Given the description of an element on the screen output the (x, y) to click on. 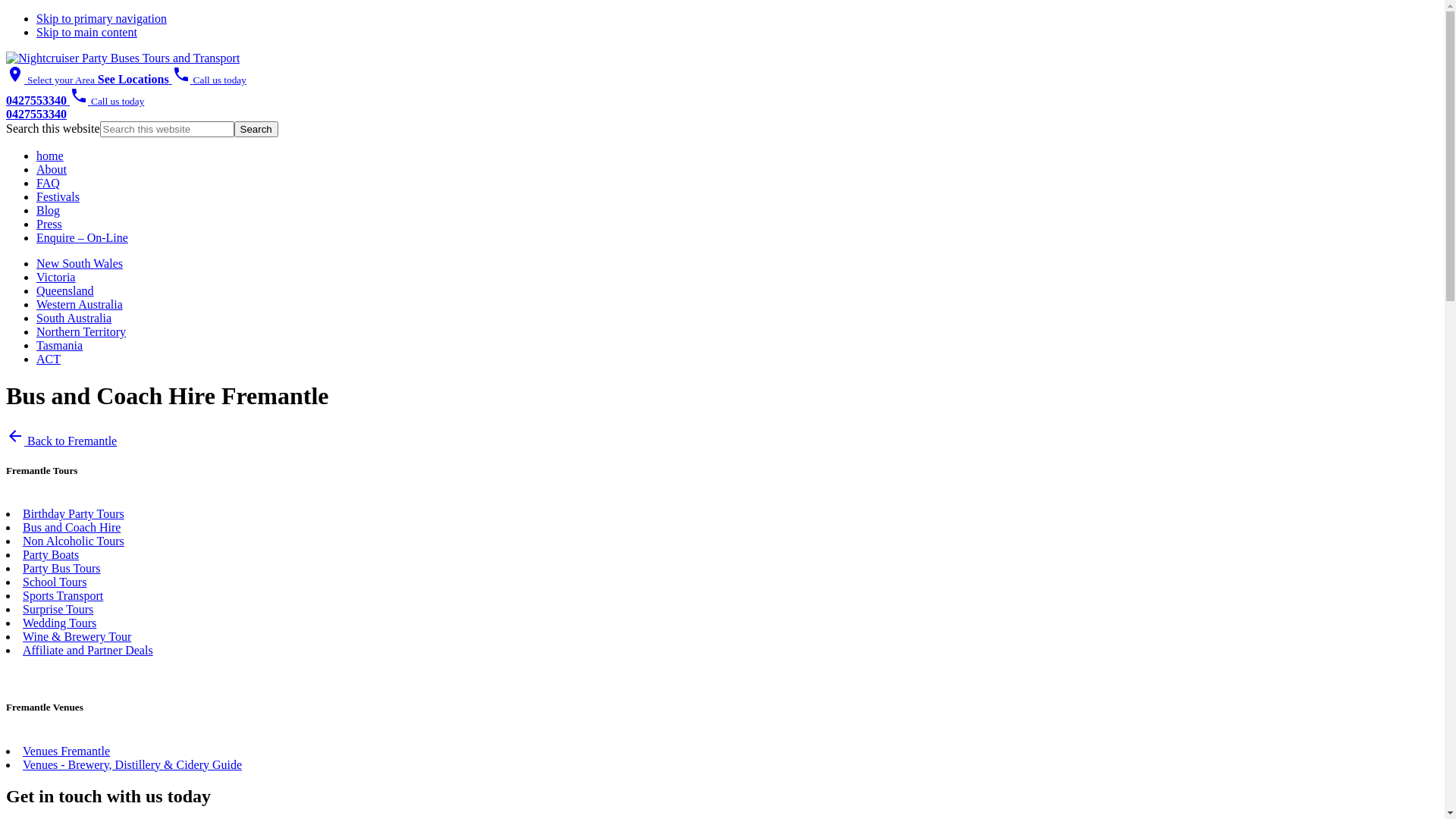
FAQ Element type: text (47, 182)
home Element type: text (49, 155)
Sports Transport Element type: text (62, 595)
Press Element type: text (49, 223)
place Select your Area See Locations Element type: text (89, 78)
Bus and Coach Hire Element type: text (71, 526)
About Element type: text (51, 169)
Tasmania Element type: text (59, 344)
Northern Territory Element type: text (80, 331)
Non Alcoholic Tours Element type: text (73, 540)
South Australia Element type: text (73, 317)
Queensland Element type: text (65, 290)
ACT Element type: text (48, 358)
Venues - Brewery, Distillery & Cidery Guide Element type: text (131, 764)
Affiliate and Partner Deals Element type: text (87, 649)
Surprise Tours Element type: text (57, 608)
phone Call us today
0427553340 Element type: text (75, 107)
Skip to primary navigation Element type: text (101, 18)
New South Wales Element type: text (79, 263)
Blog Element type: text (47, 209)
phone Call us today
0427553340 Element type: text (126, 89)
Party Boats Element type: text (50, 554)
Wine & Brewery Tour Element type: text (76, 636)
Birthday Party Tours Element type: text (73, 513)
Venues Fremantle Element type: text (65, 750)
Skip to main content Element type: text (86, 31)
Search Element type: text (256, 129)
arrow_back Back to Fremantle Element type: text (61, 440)
Wedding Tours Element type: text (59, 622)
School Tours Element type: text (54, 581)
Western Australia Element type: text (79, 304)
Party Bus Tours Element type: text (61, 567)
Victoria Element type: text (55, 276)
Festivals Element type: text (57, 196)
